Given the description of an element on the screen output the (x, y) to click on. 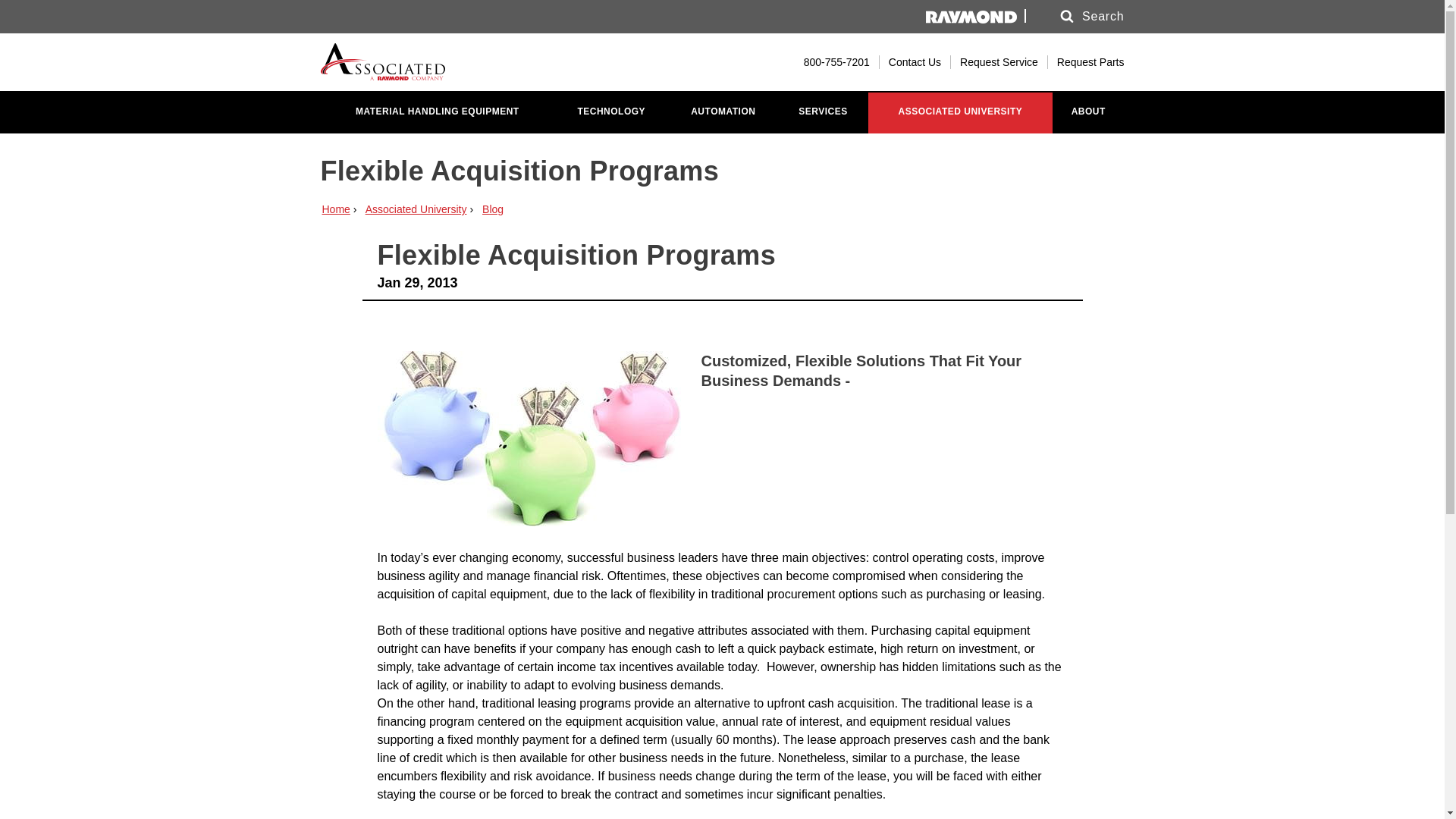
Search (1078, 16)
TECHNOLOGY (611, 111)
AUTOMATION (722, 111)
Contact us (914, 61)
Request Parts (1090, 61)
Request Service (998, 61)
MATERIAL HANDLING EQUIPMENT (437, 111)
Contact Us (914, 61)
SERVICES (822, 111)
ASSOCIATED UNIVERSITY (959, 111)
800-755-7201 (828, 61)
